Given the description of an element on the screen output the (x, y) to click on. 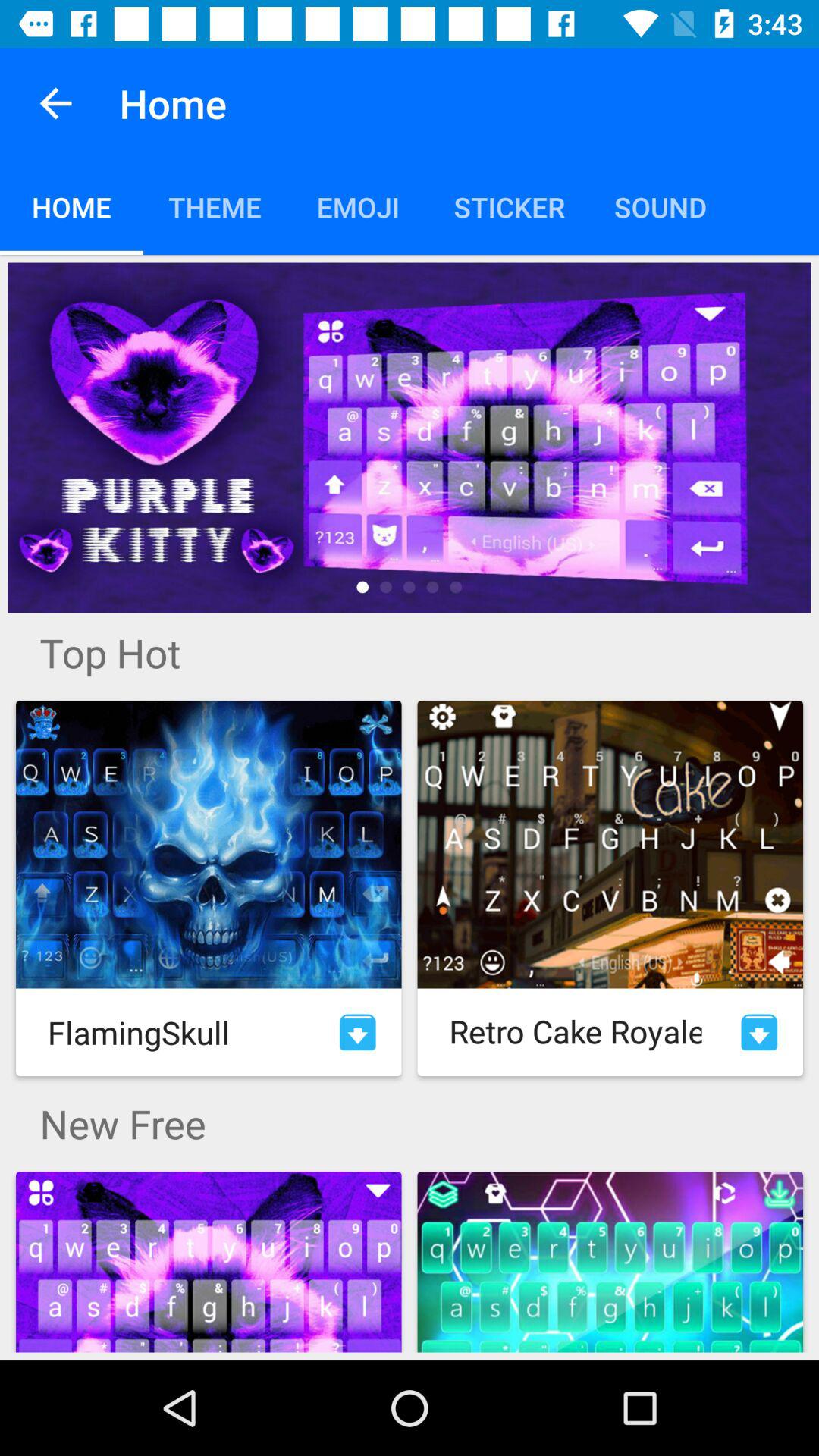
add to a playlist (357, 1032)
